Given the description of an element on the screen output the (x, y) to click on. 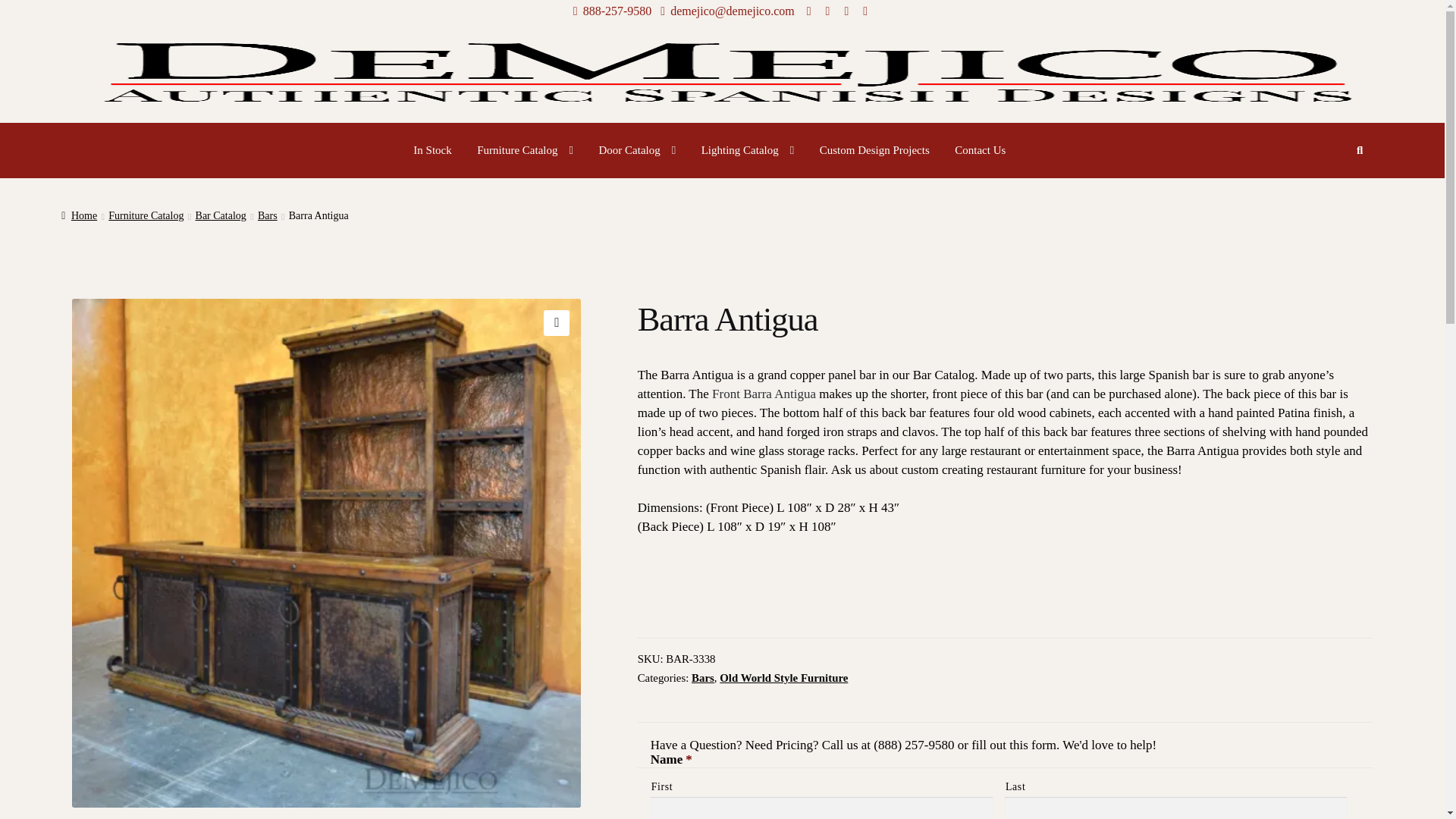
888-257-9580 (609, 10)
In Stock (432, 150)
Furniture Catalog (525, 150)
